Given the description of an element on the screen output the (x, y) to click on. 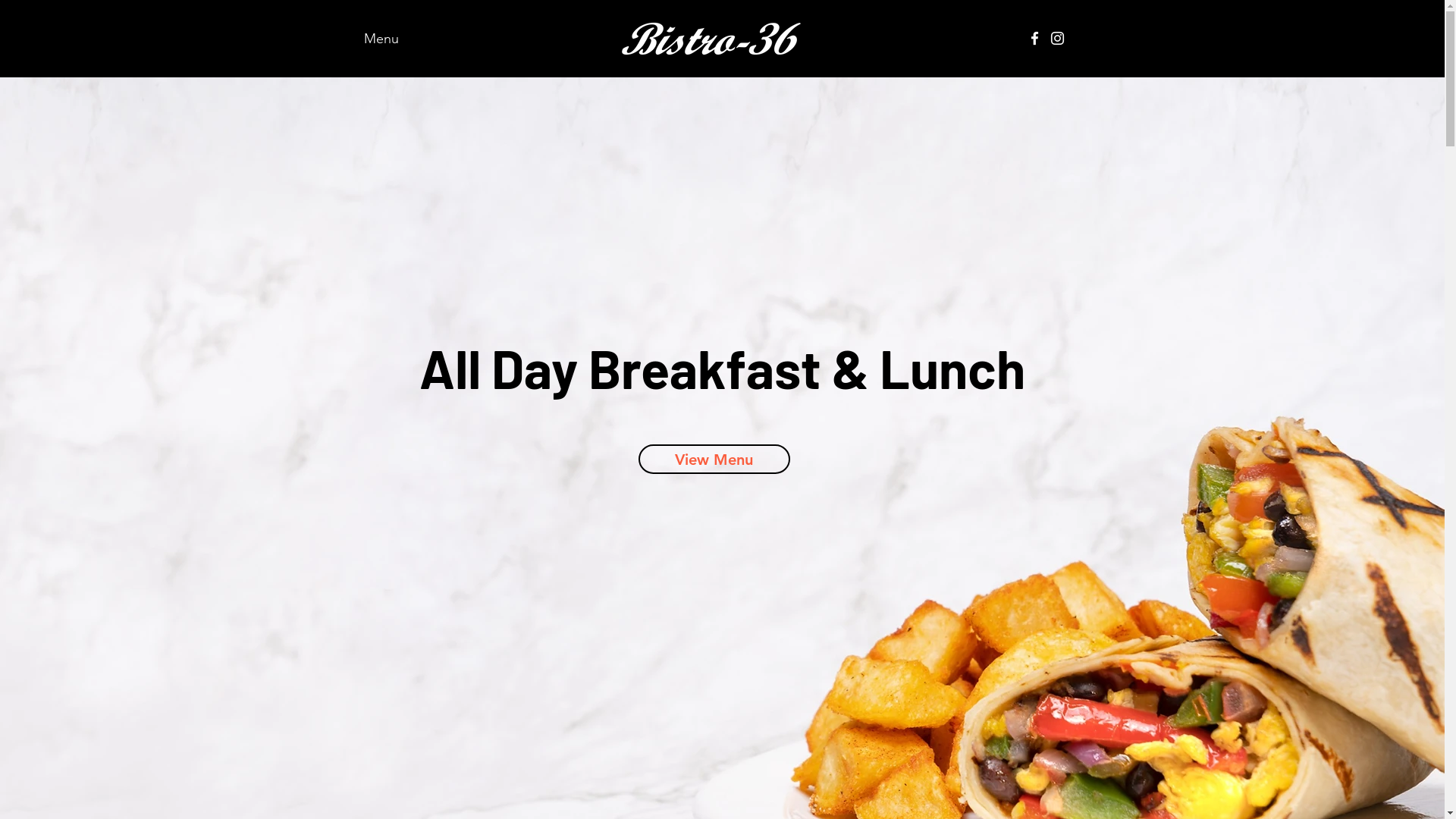
View Menu Element type: text (714, 458)
Menu Element type: text (380, 38)
